Given the description of an element on the screen output the (x, y) to click on. 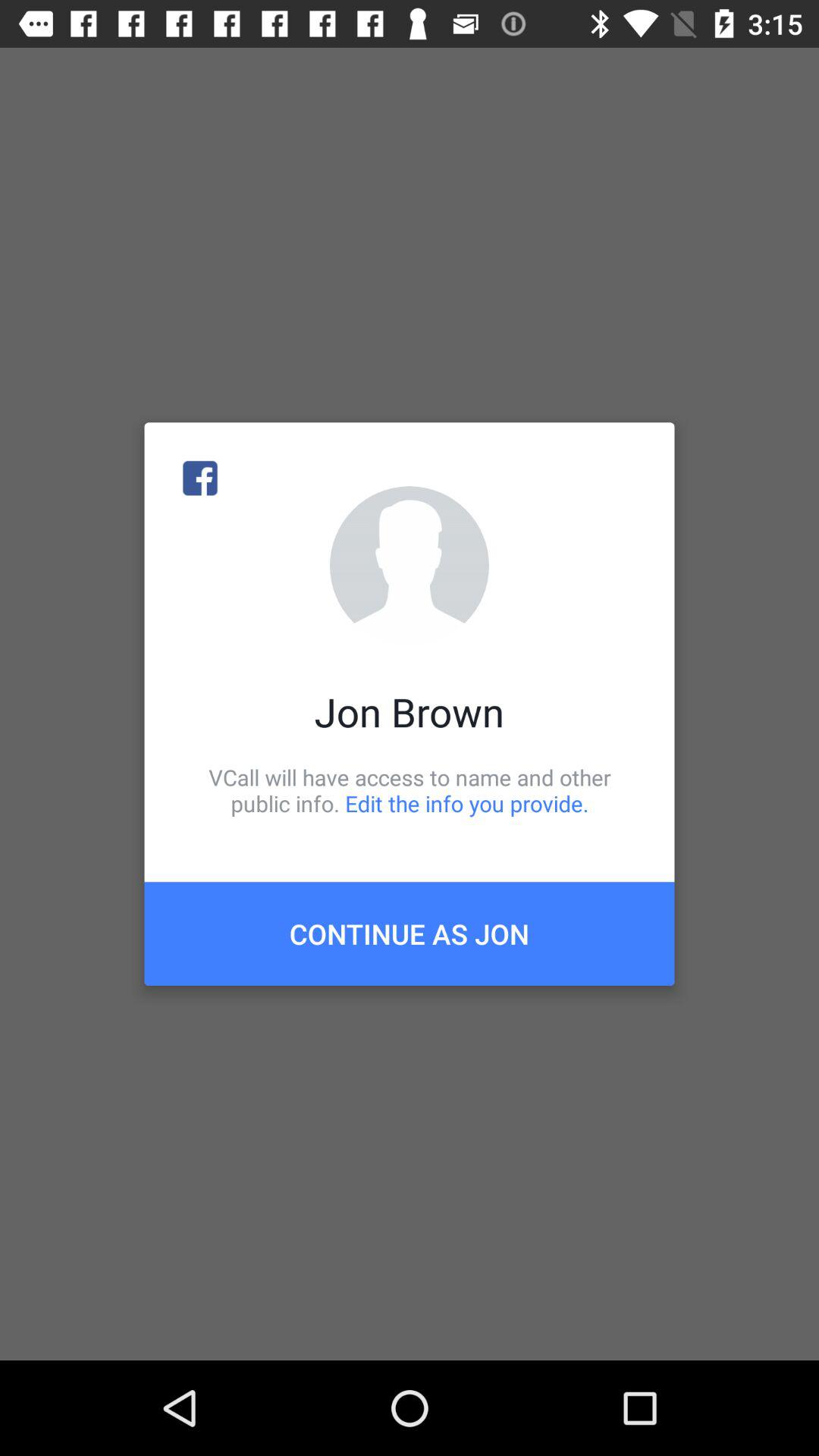
turn on icon below jon brown icon (409, 790)
